Given the description of an element on the screen output the (x, y) to click on. 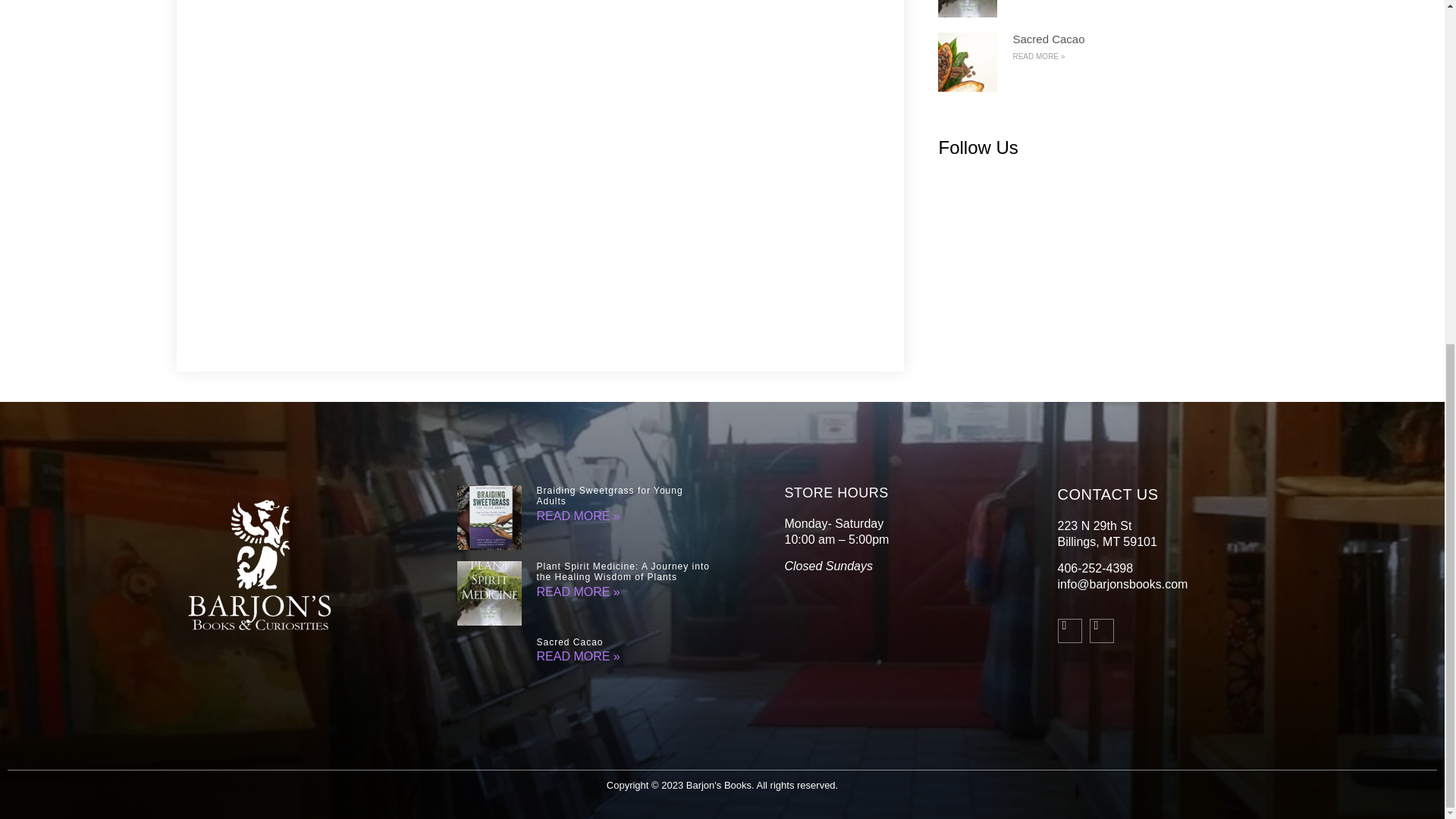
Braiding Sweetgrass for Young Adults (609, 495)
footer-logo (258, 561)
Sacred Cacao (1047, 38)
Sacred Cacao (570, 642)
